Given the description of an element on the screen output the (x, y) to click on. 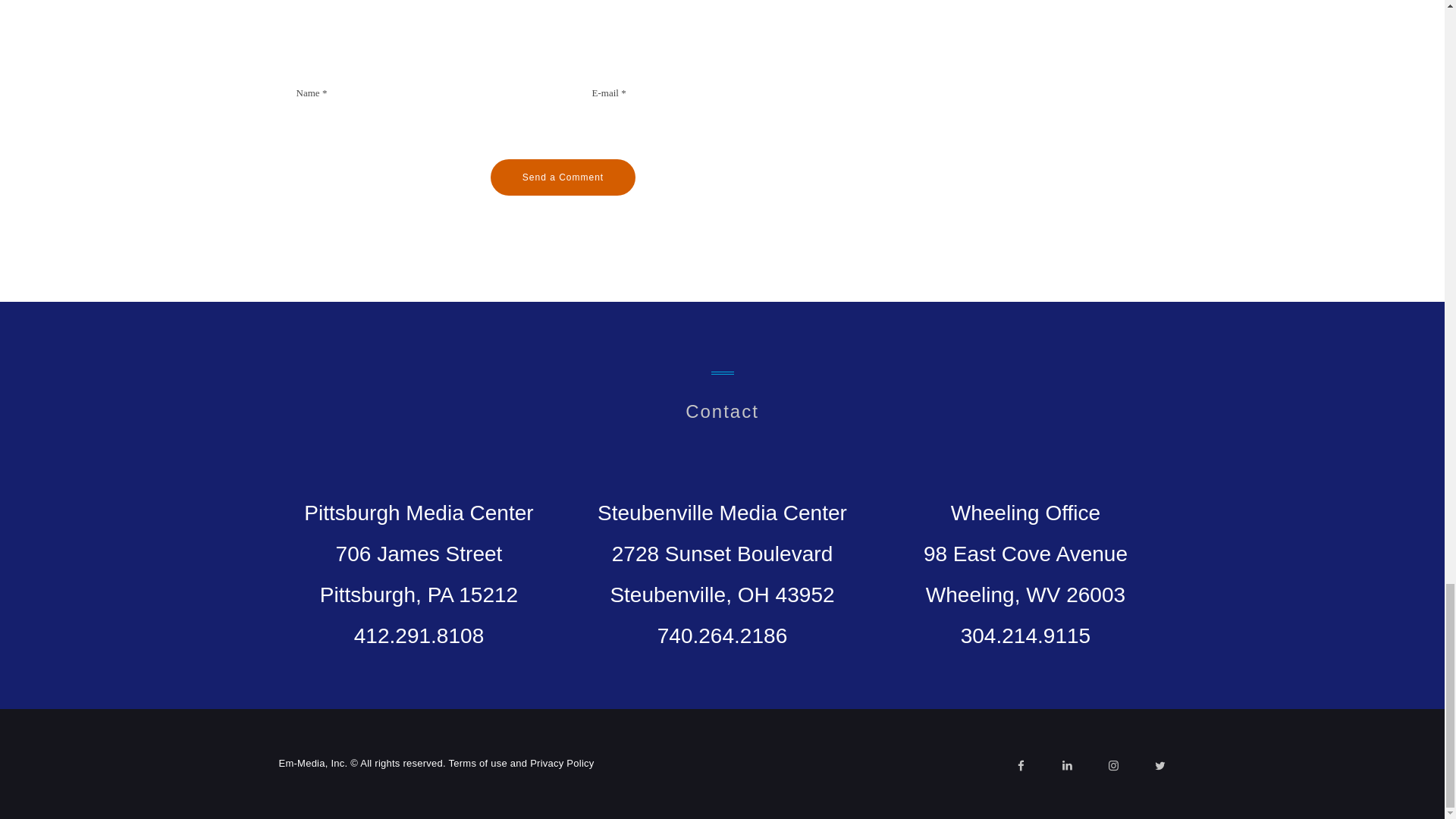
Send a Comment (562, 176)
